Given the description of an element on the screen output the (x, y) to click on. 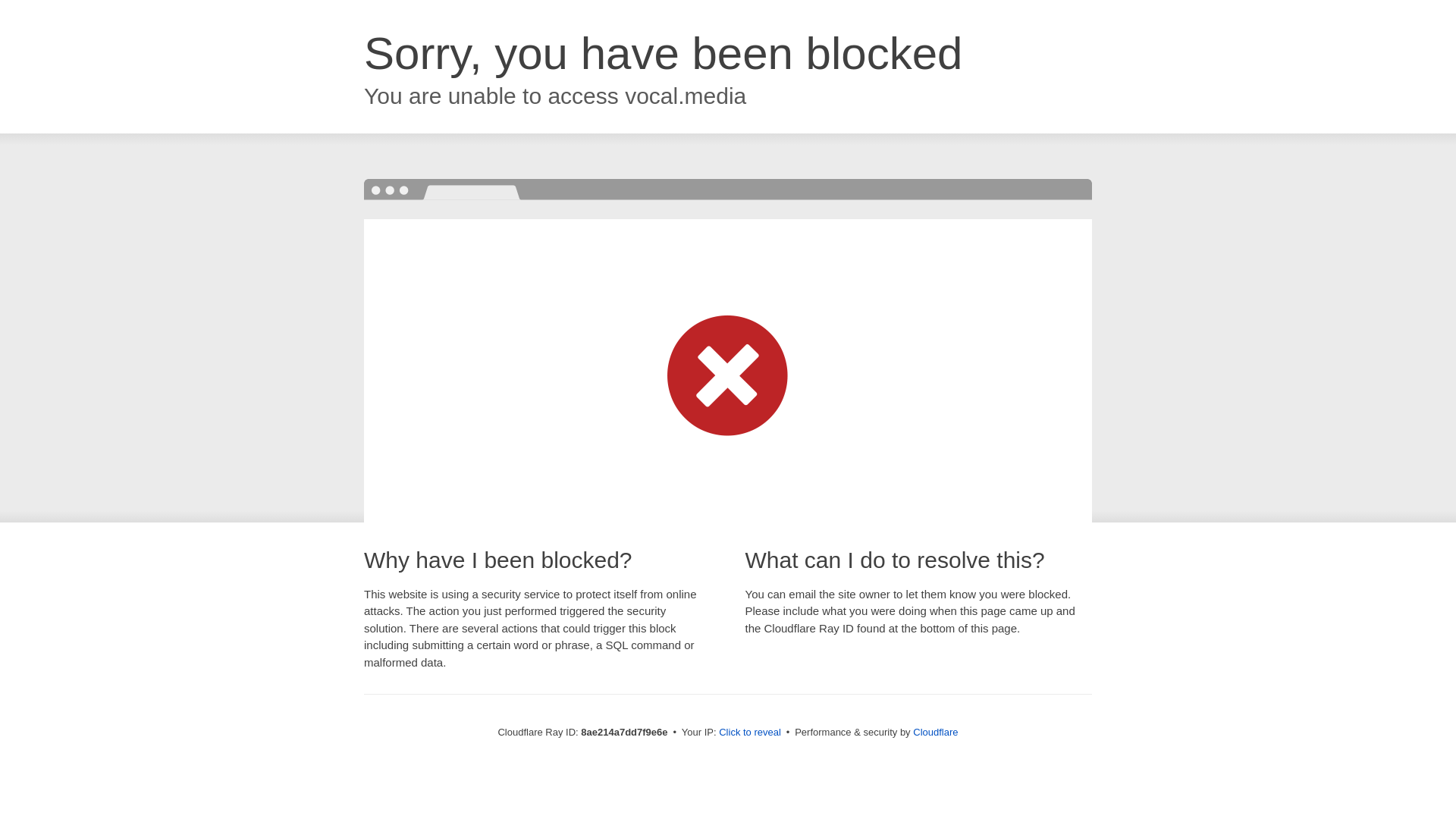
Click to reveal (749, 732)
Cloudflare (935, 731)
